Given the description of an element on the screen output the (x, y) to click on. 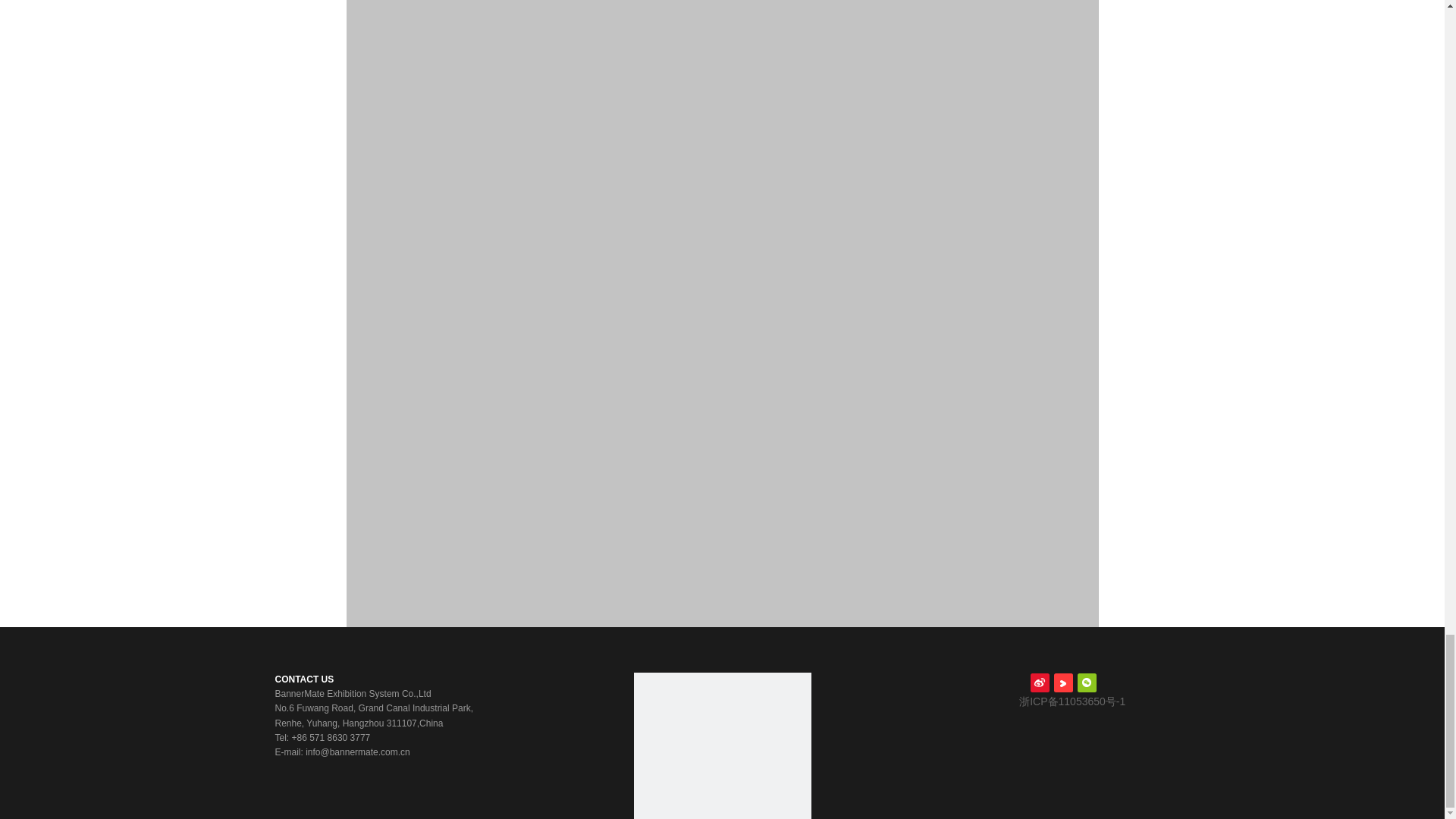
Youku (1063, 682)
